Given the description of an element on the screen output the (x, y) to click on. 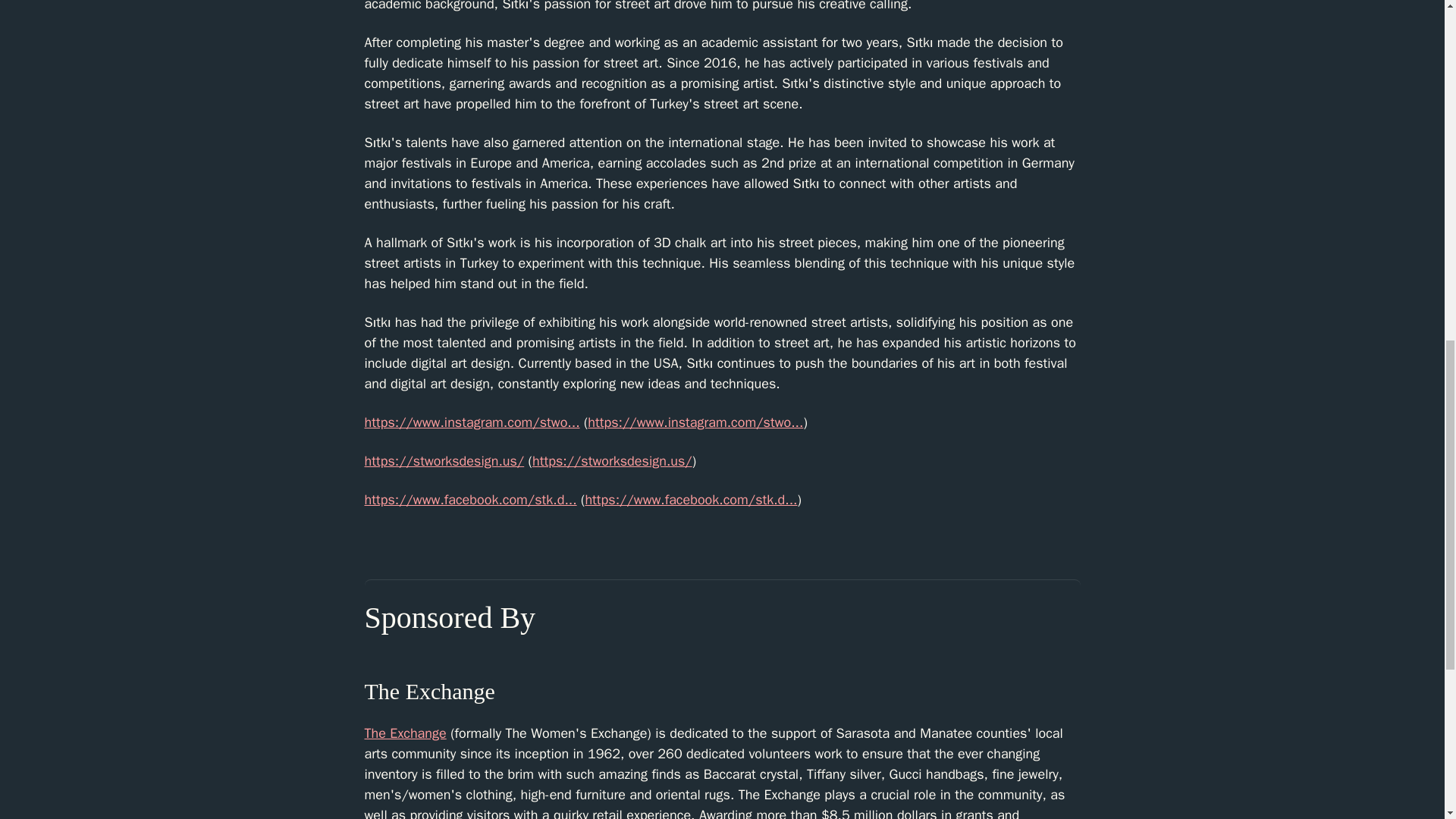
The Exchange (404, 733)
